Given the description of an element on the screen output the (x, y) to click on. 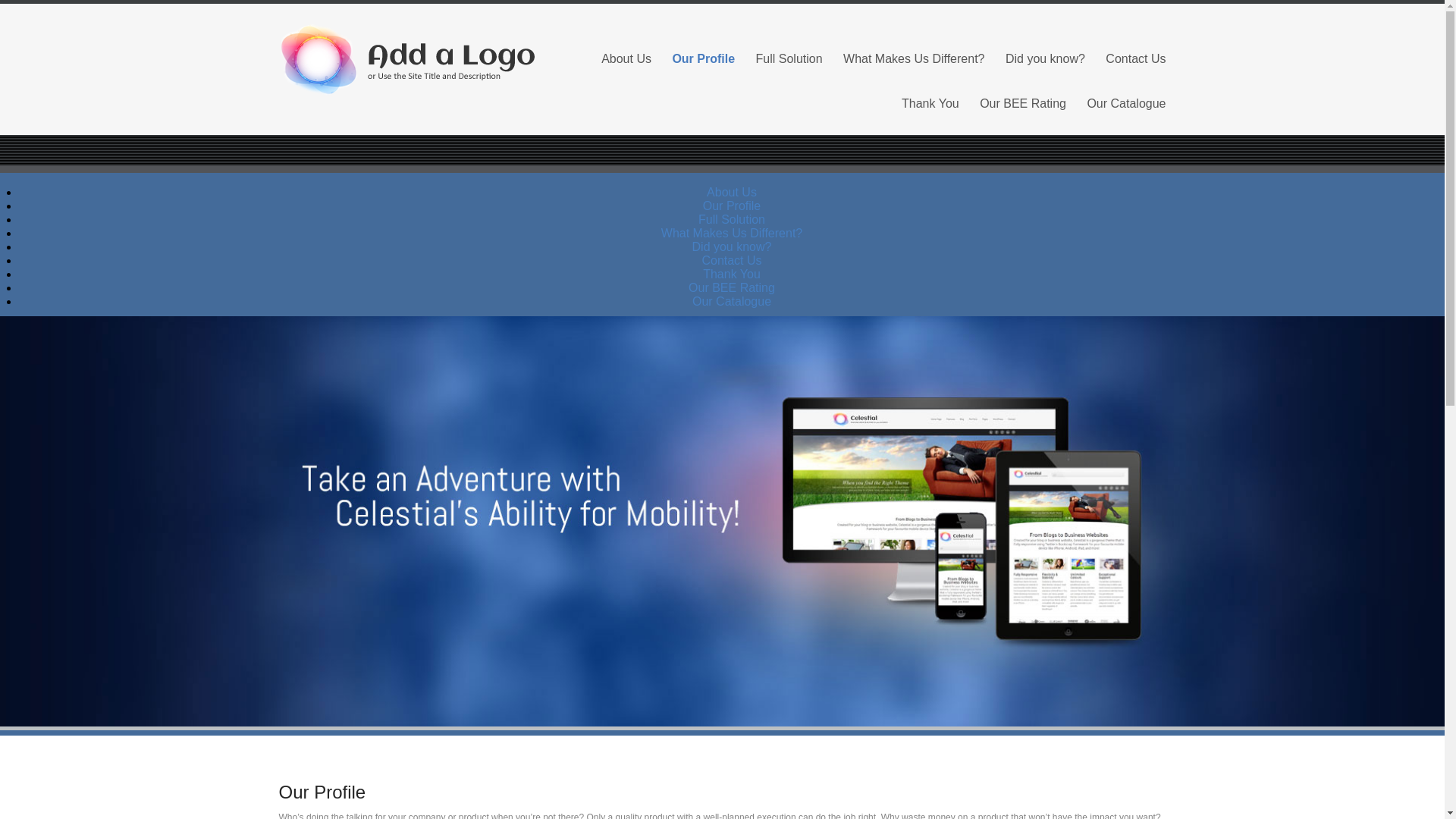
Full Solution (731, 219)
Our Profile (703, 58)
Did you know? (1045, 58)
Our BEE Rating (731, 287)
About Us (731, 192)
Thank You (731, 273)
What Makes Us Different? (731, 232)
Our Catalogue (732, 300)
Our Profile (731, 205)
About Us (625, 58)
Corporate Branding and Digital Design Specialists (419, 60)
Contact Us (1135, 58)
Our BEE Rating (1022, 103)
Full Solution (788, 58)
Did you know? (732, 246)
